Given the description of an element on the screen output the (x, y) to click on. 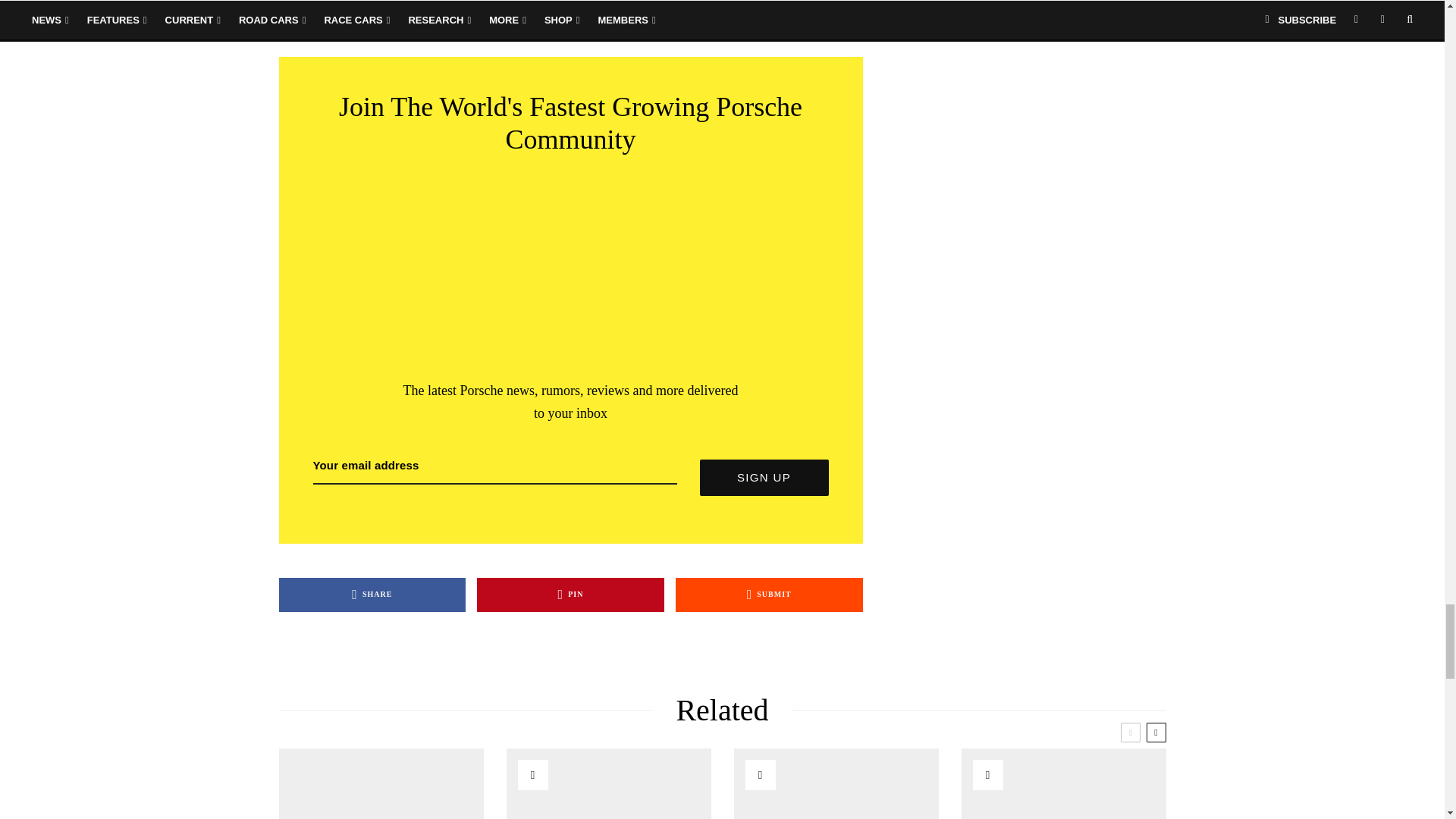
Sign up (763, 477)
